Given the description of an element on the screen output the (x, y) to click on. 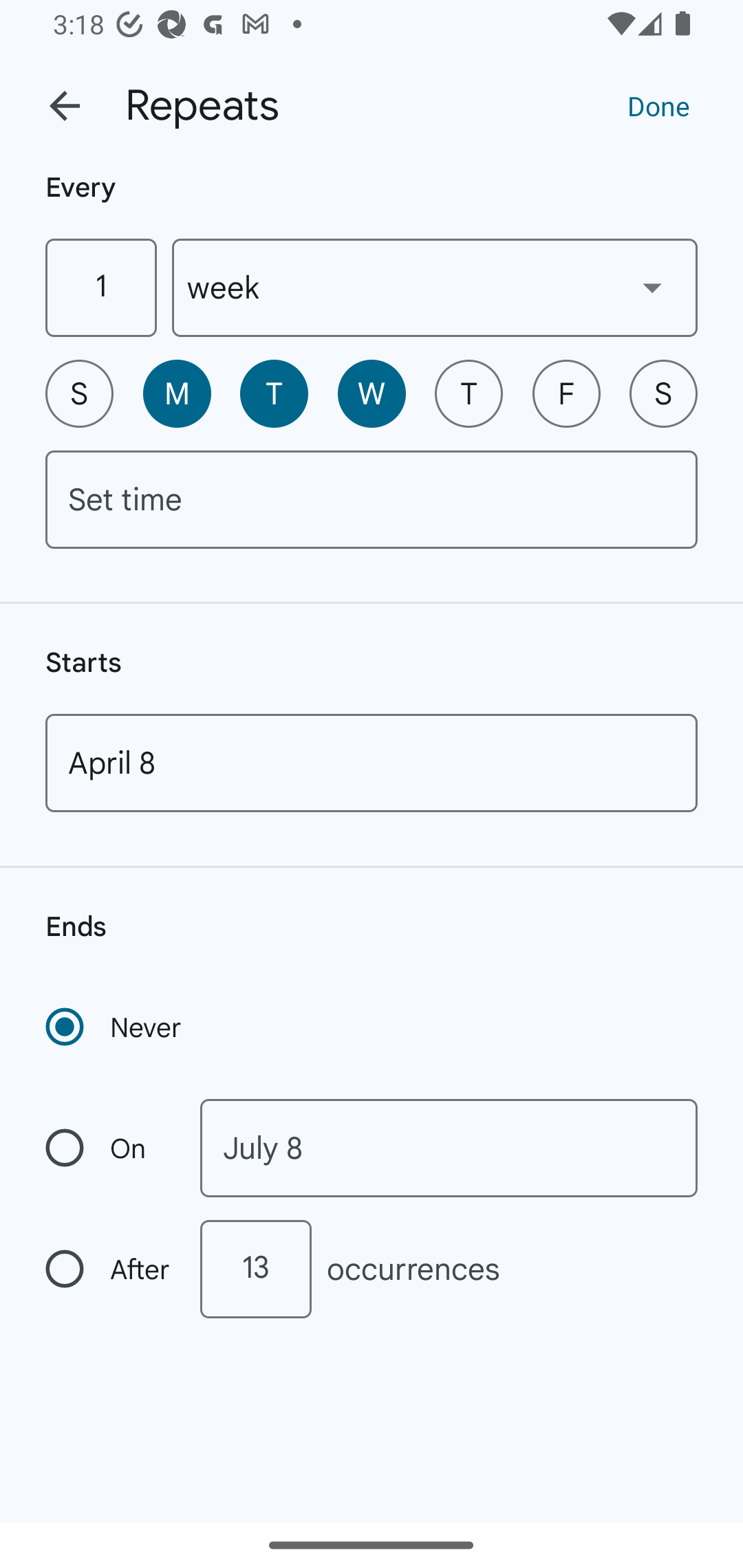
Back (64, 105)
Done (658, 105)
1 (100, 287)
week (434, 287)
Show dropdown menu (652, 286)
S Sunday (79, 393)
M Monday, selected (177, 393)
T Tuesday, selected (273, 393)
W Wednesday, selected (371, 393)
T Thursday (468, 393)
F Friday (566, 393)
S Saturday (663, 393)
Set time (371, 499)
April 8 (371, 762)
Never Recurrence never ends (115, 1026)
July 8 (448, 1148)
On Recurrence ends on a specific date (109, 1148)
13 (255, 1268)
